Given the description of an element on the screen output the (x, y) to click on. 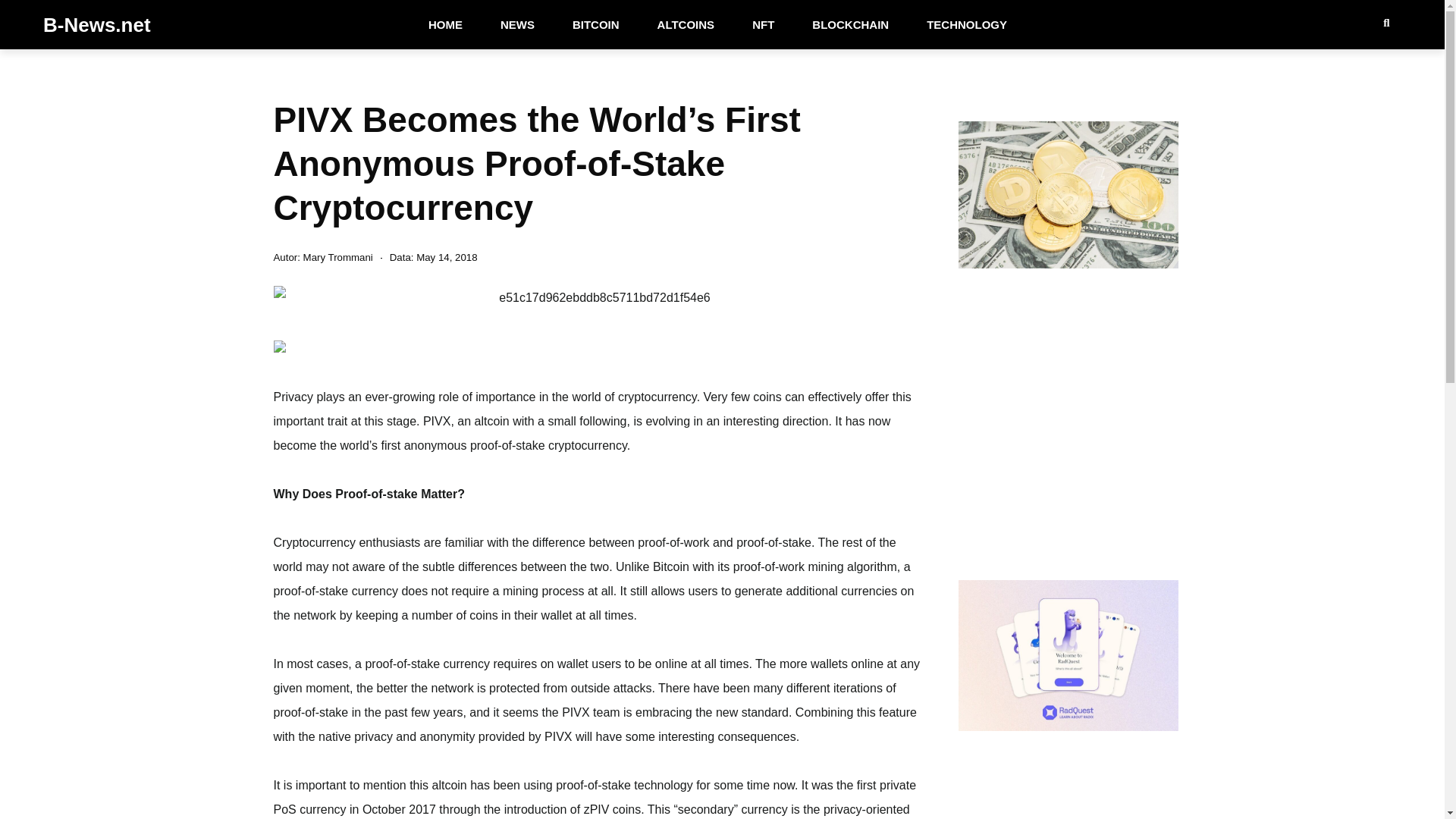
TECHNOLOGY (966, 24)
HOME (445, 24)
BITCOIN (596, 24)
B-News.net (97, 24)
ALTCOINS (686, 24)
NEWS (517, 24)
e51c17d962ebddb8c5711bd72d1f54e6 (598, 297)
NFT (763, 24)
BLOCKCHAIN (850, 24)
